Given the description of an element on the screen output the (x, y) to click on. 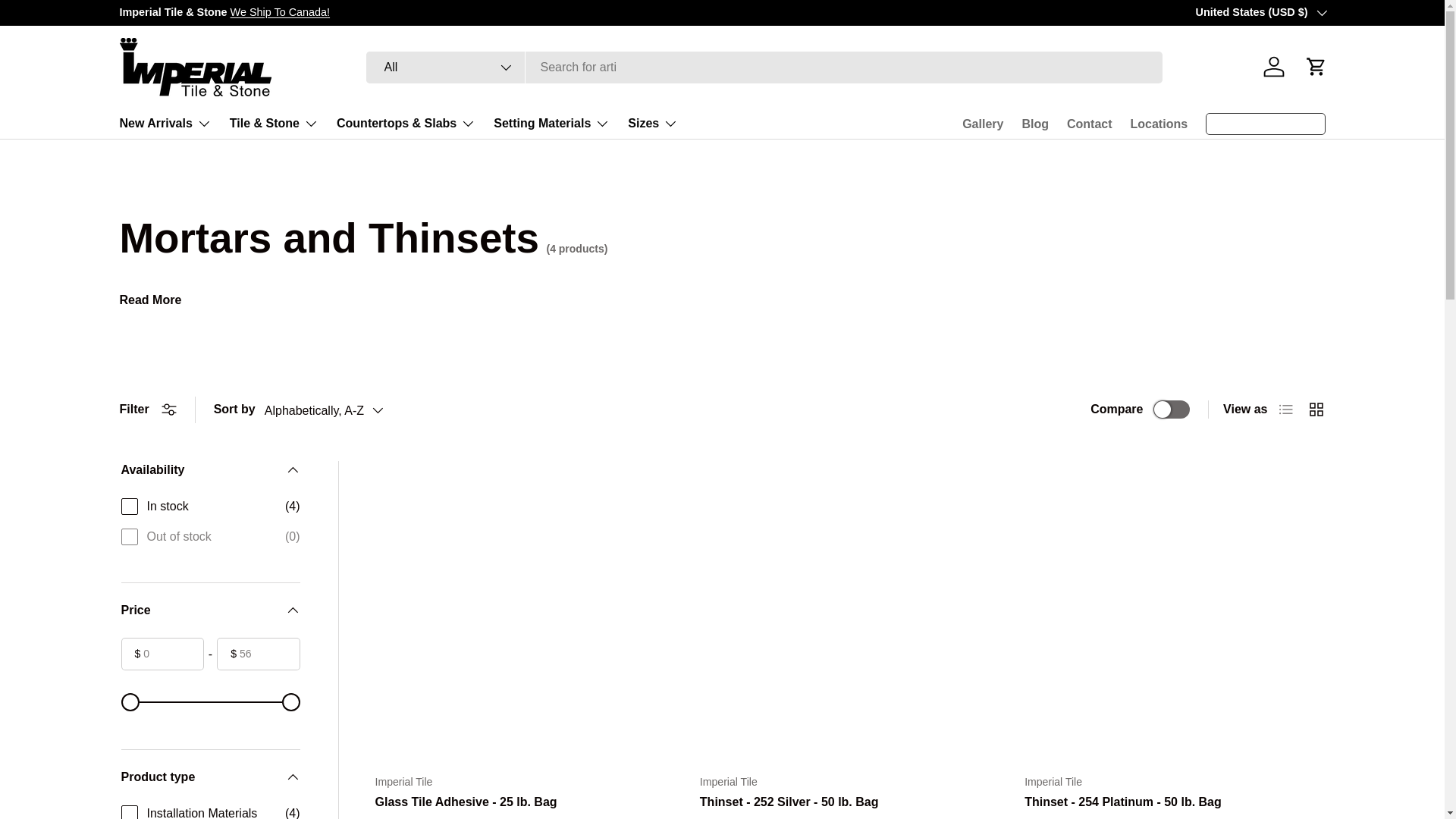
Cart (1316, 66)
Log in (1273, 66)
Skip to content (68, 21)
All (444, 67)
We Ship To Canada! (280, 11)
0 (210, 701)
Shipping Policy (280, 11)
56 (210, 701)
New Arrivals (165, 123)
